Given the description of an element on the screen output the (x, y) to click on. 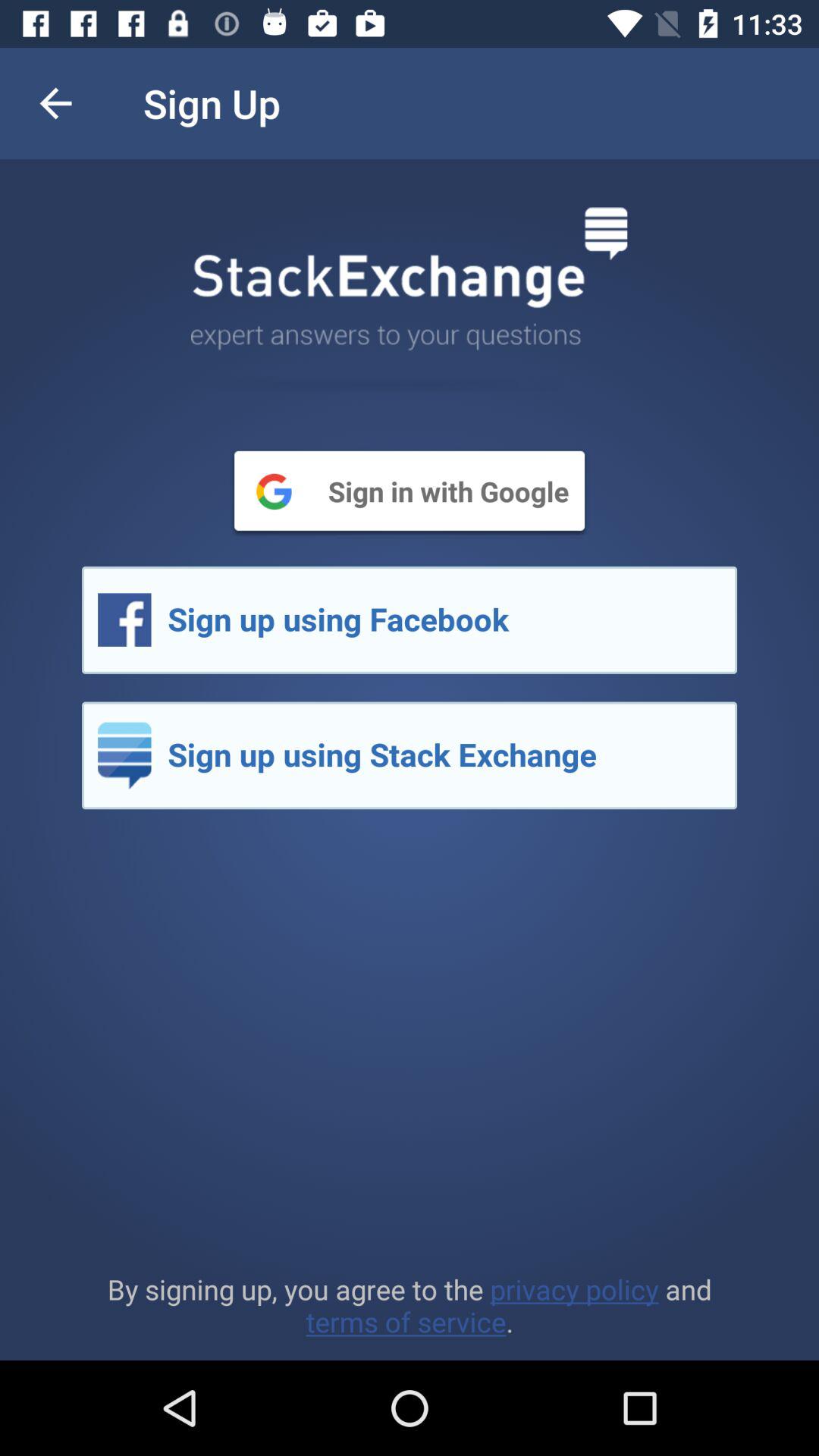
scroll until sign in with item (409, 490)
